Given the description of an element on the screen output the (x, y) to click on. 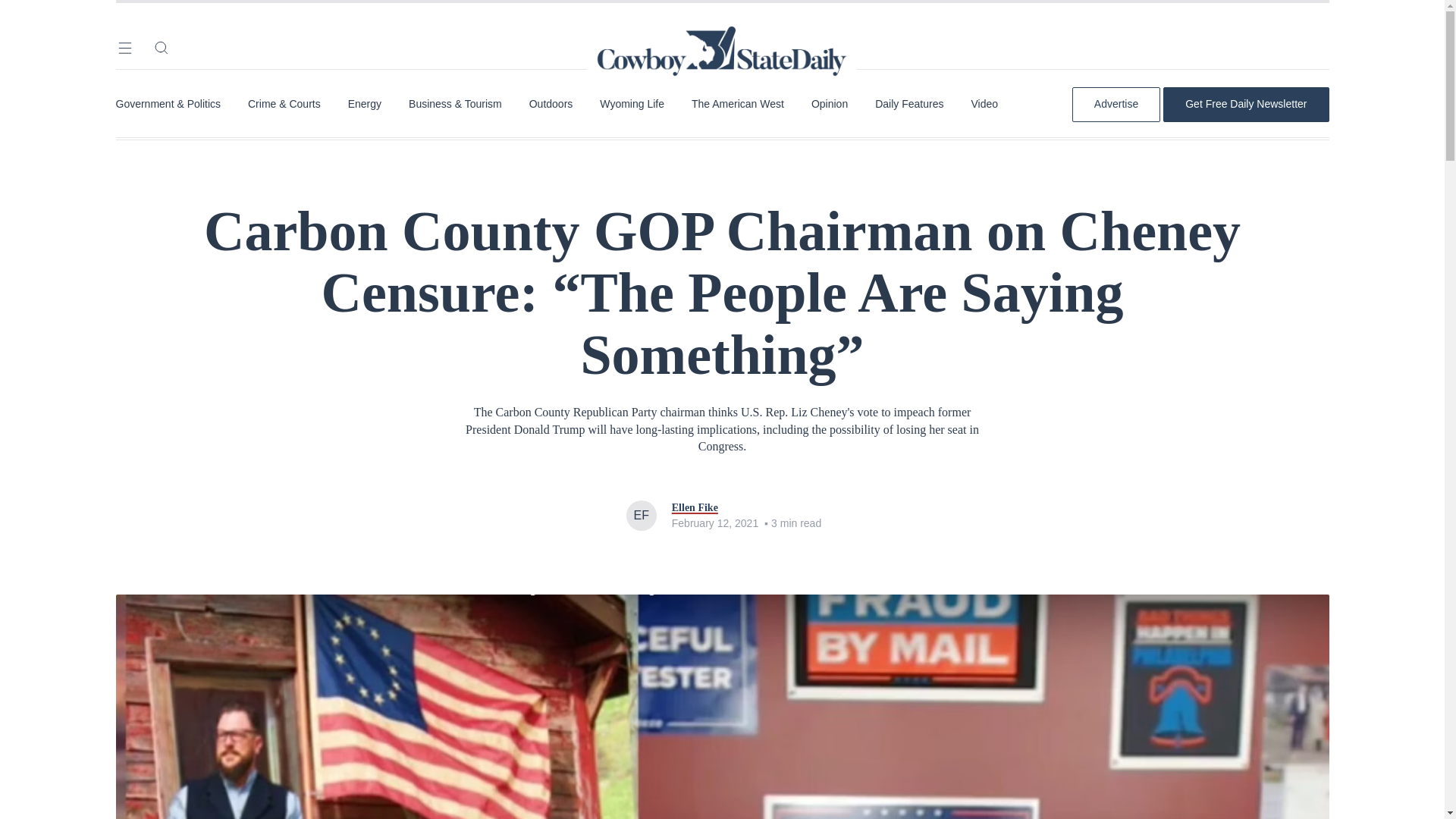
Search (160, 47)
Wyoming Life (631, 104)
Menu (124, 47)
The American West (737, 104)
Advertise (1115, 104)
Get Free Daily Newsletter (1245, 104)
Go to homepage (721, 30)
Daily Features (909, 104)
